Given the description of an element on the screen output the (x, y) to click on. 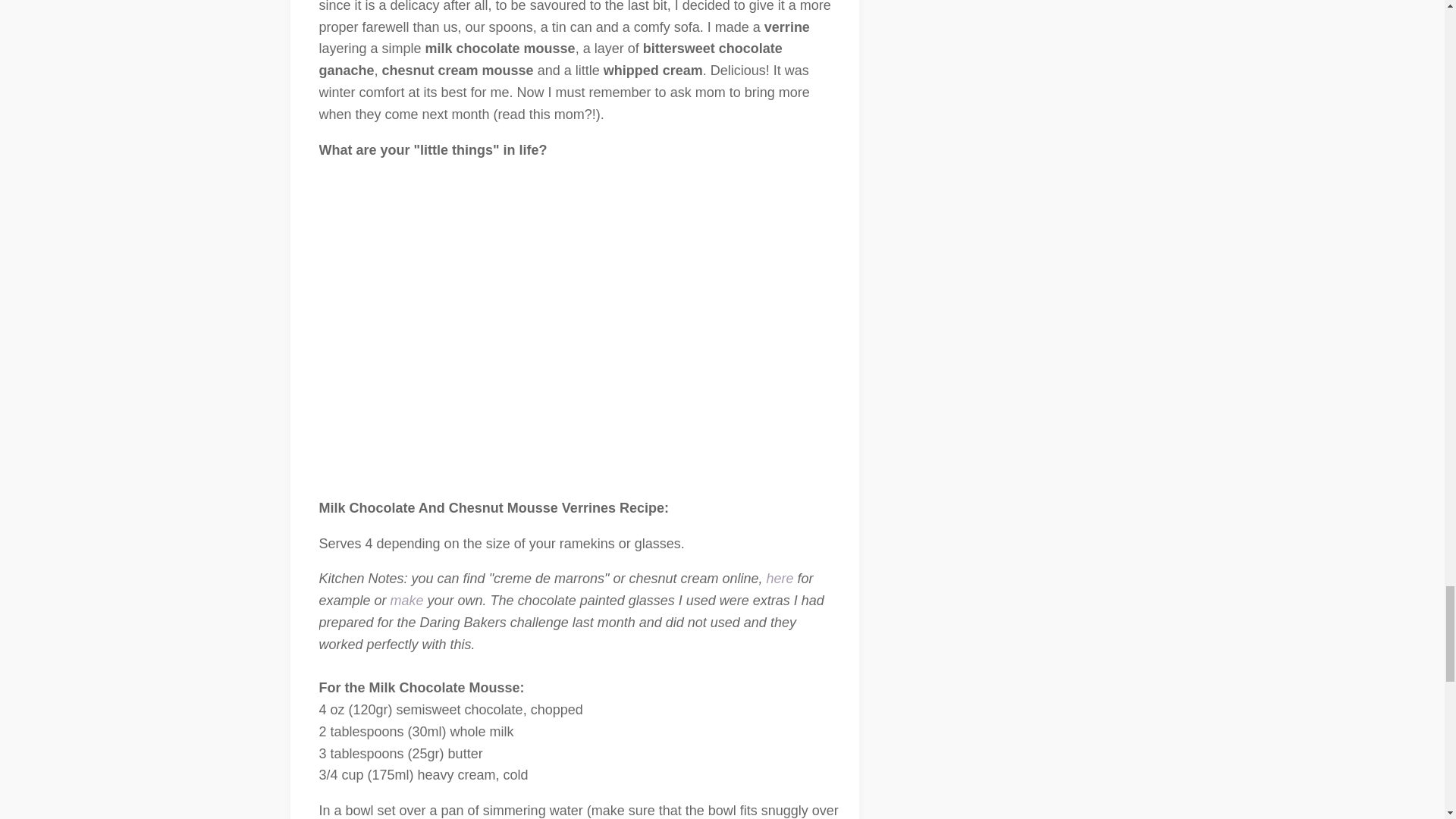
here (780, 578)
